Given the description of an element on the screen output the (x, y) to click on. 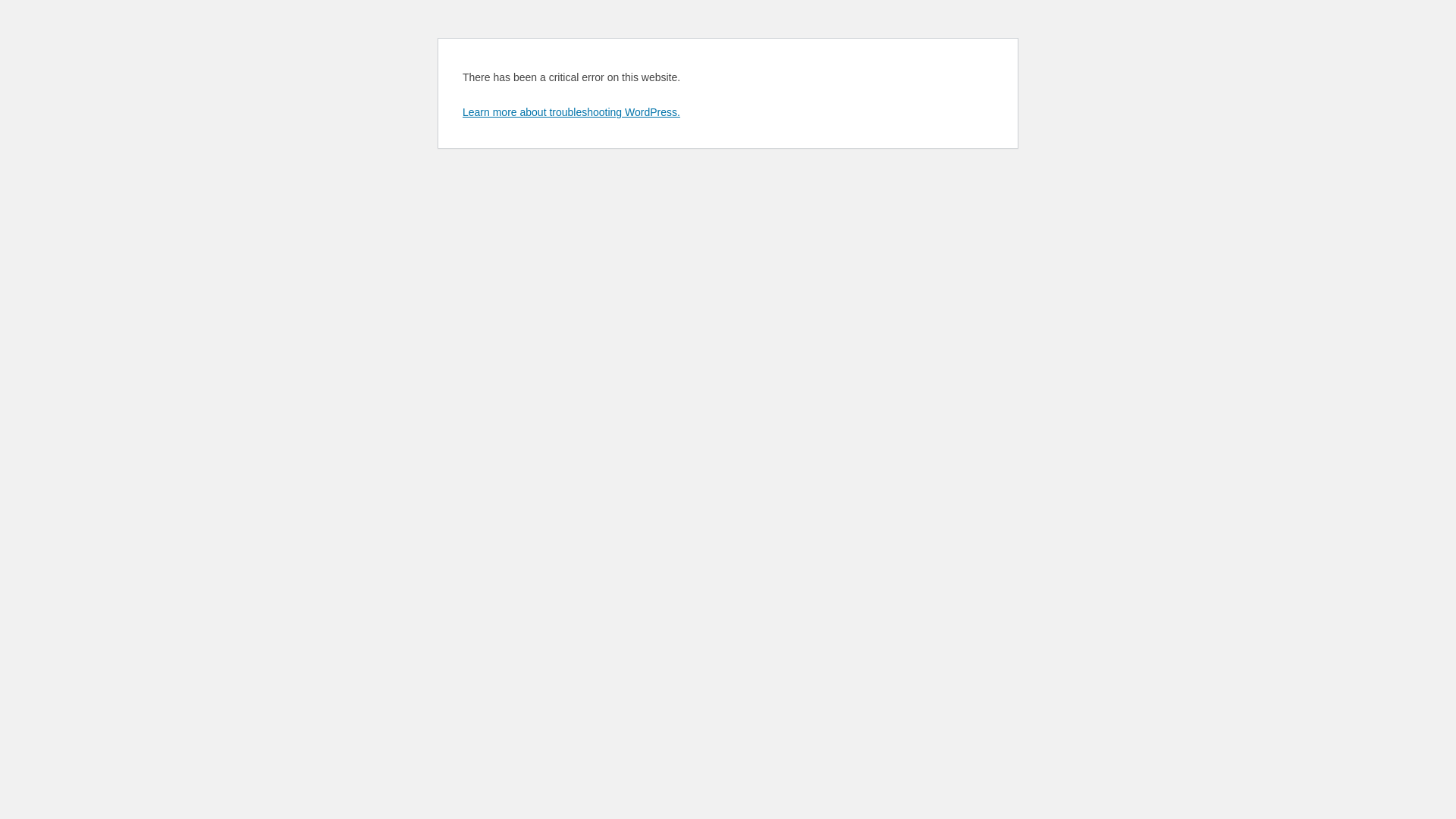
Learn more about troubleshooting WordPress. Element type: text (571, 112)
